Given the description of an element on the screen output the (x, y) to click on. 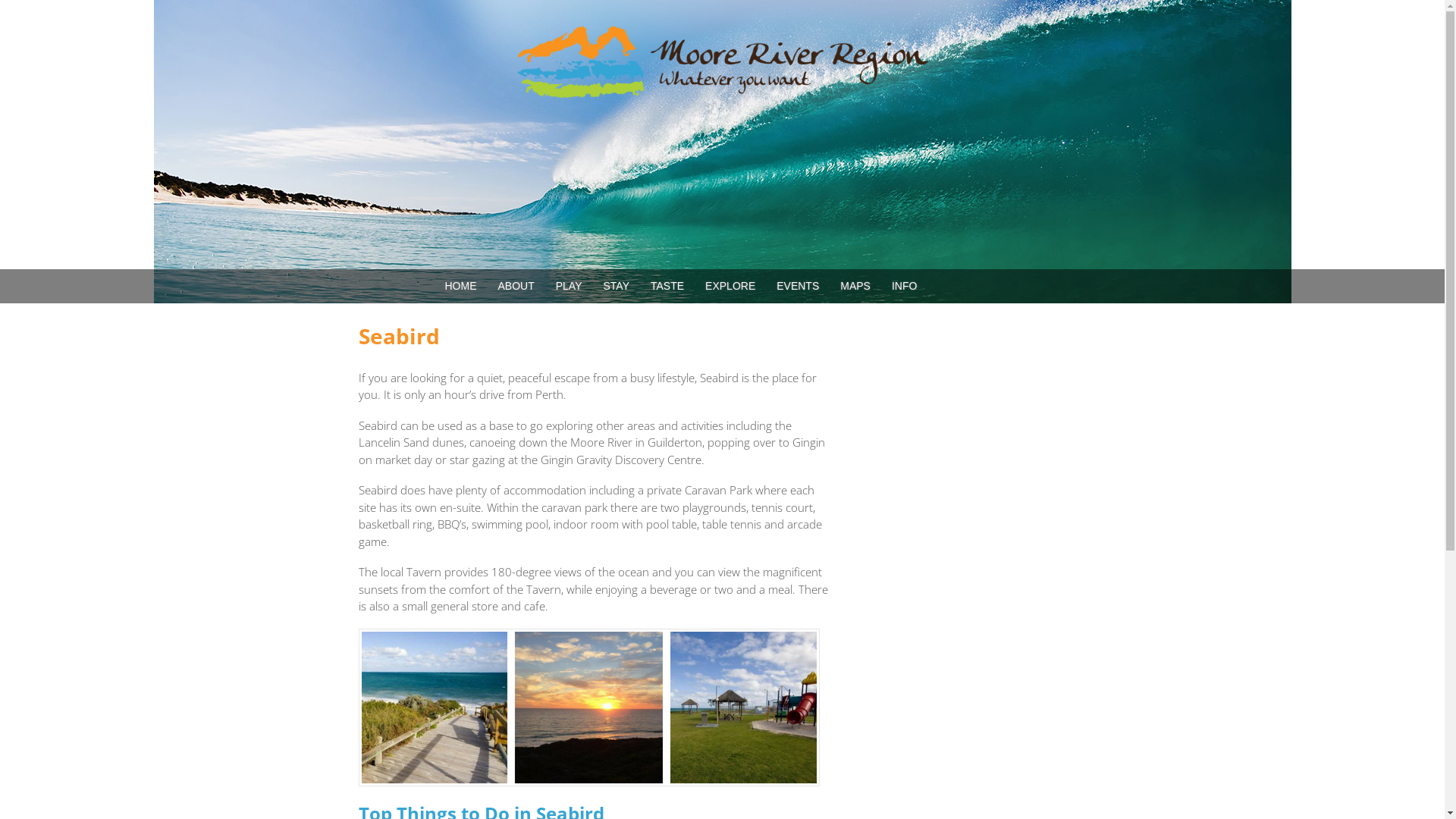
HOME Element type: text (459, 286)
EVENTS Element type: text (797, 286)
ABOUT Element type: text (515, 286)
TASTE Element type: text (667, 286)
MAPS Element type: text (855, 286)
Coast to Country Element type: hover (721, 89)
INFO Element type: text (904, 286)
PLAY Element type: text (569, 286)
STAY Element type: text (616, 286)
EXPLORE Element type: text (729, 286)
